Given the description of an element on the screen output the (x, y) to click on. 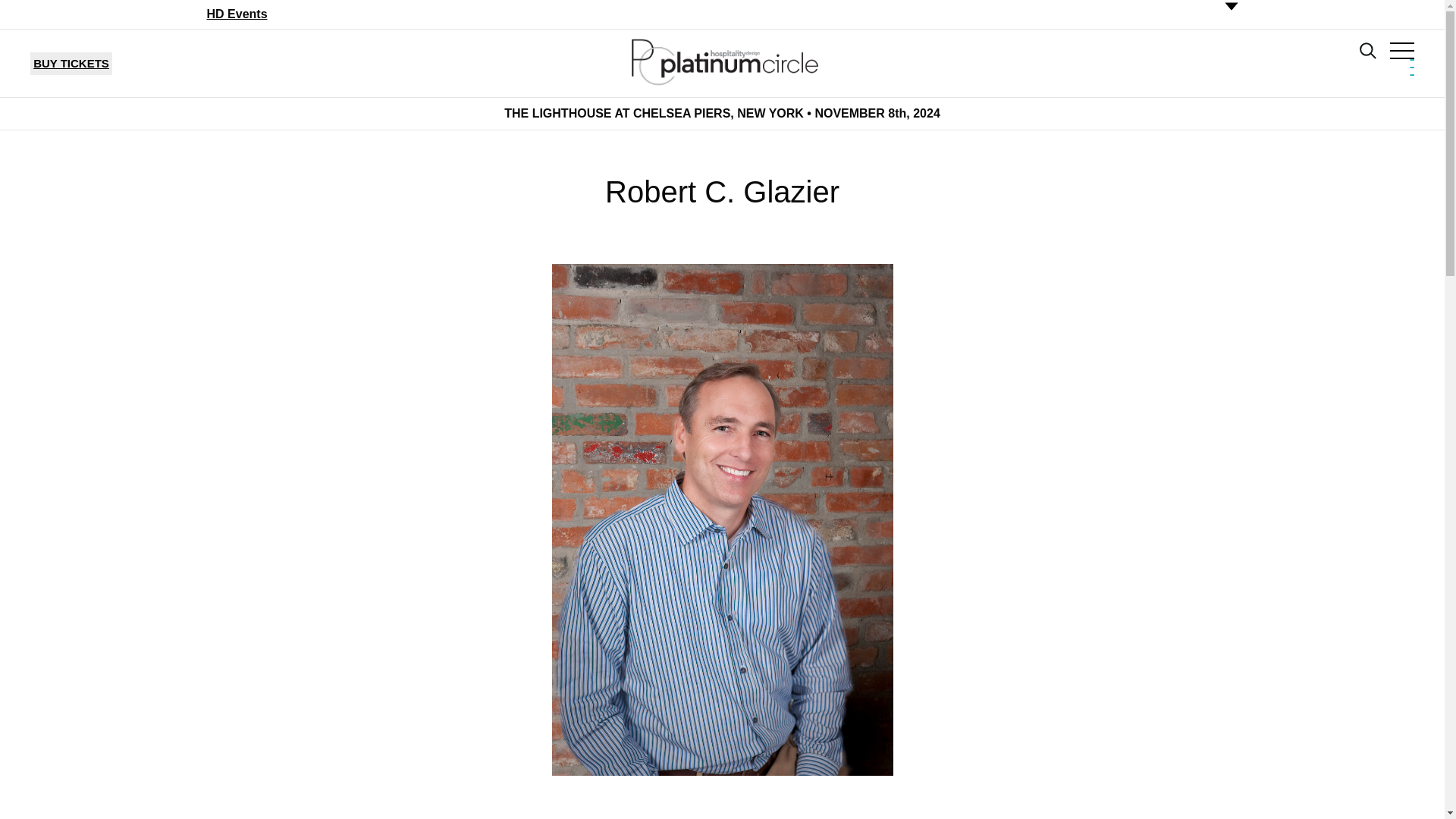
BUY TICKETS (71, 63)
Search IconA magnifying glass icon. (1367, 50)
HD Events (236, 13)
